Given the description of an element on the screen output the (x, y) to click on. 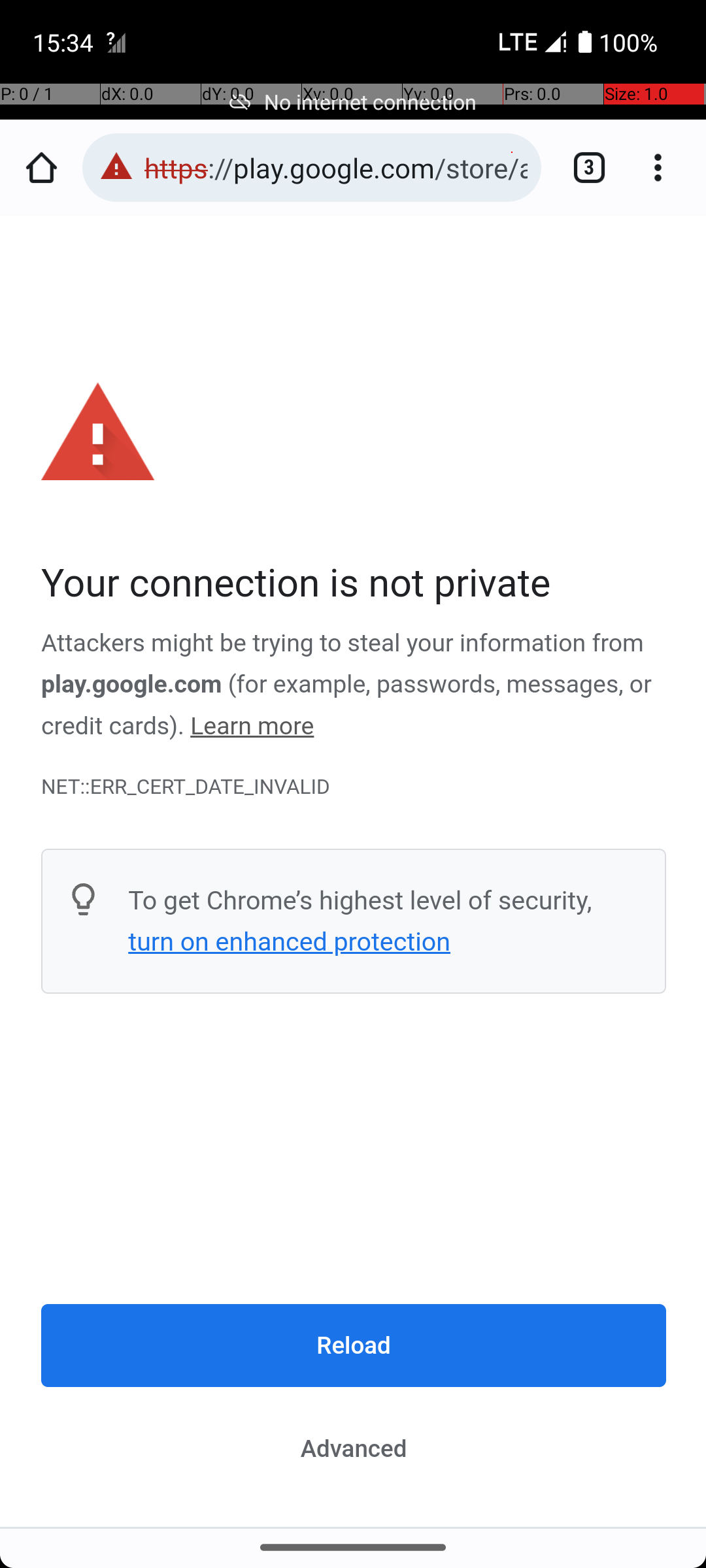
https://play.google.com/store/apps/details?id=com.android.chrome Element type: android.widget.EditText (335, 167)
Reload Element type: android.widget.Button (354, 1345)
play.google.com Element type: android.widget.TextView (131, 684)
